Given the description of an element on the screen output the (x, y) to click on. 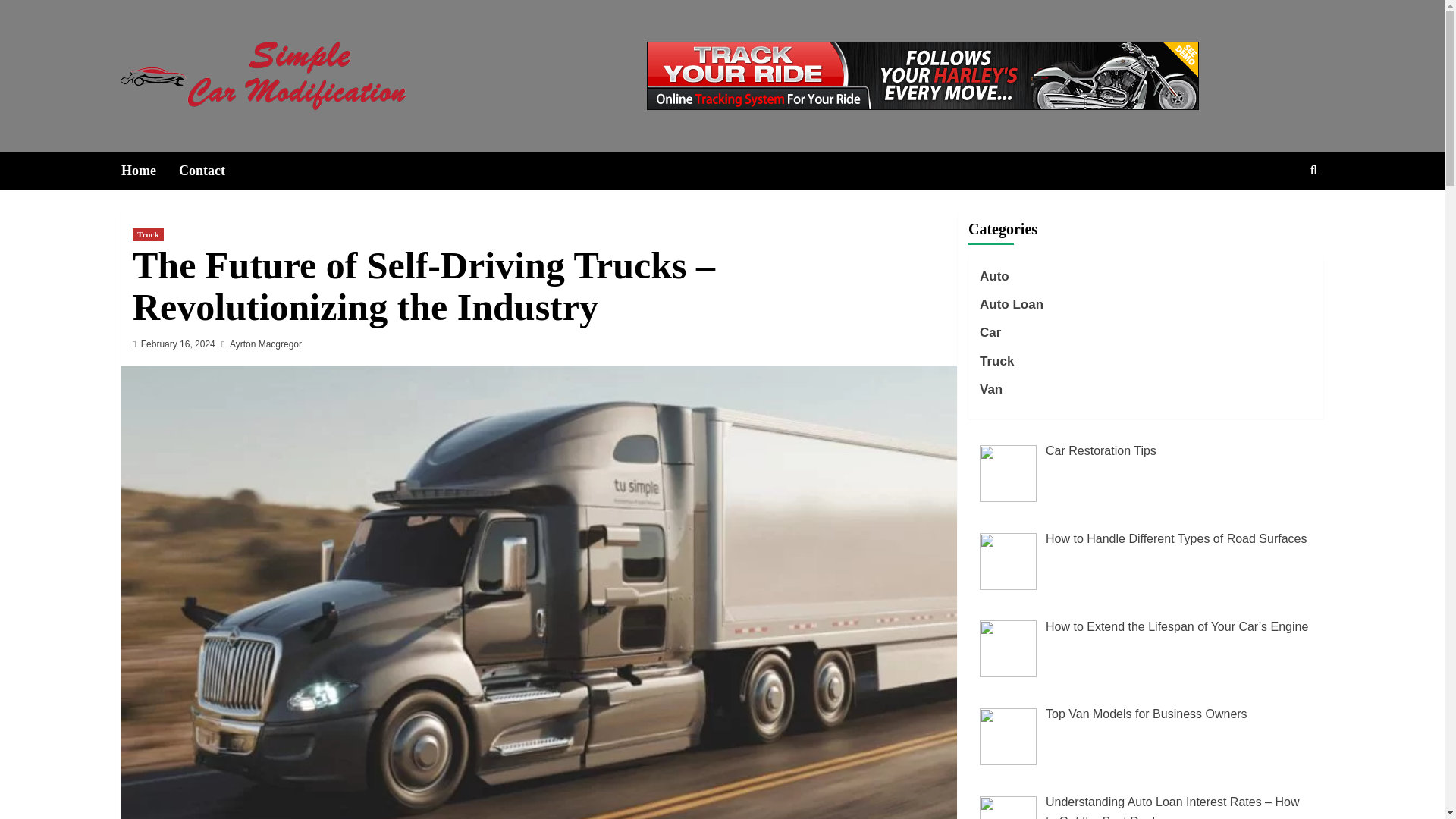
Truck (147, 234)
February 16, 2024 (178, 344)
Home (149, 170)
Ayrton Macgregor (265, 344)
Search (1278, 219)
Contact (213, 170)
